Given the description of an element on the screen output the (x, y) to click on. 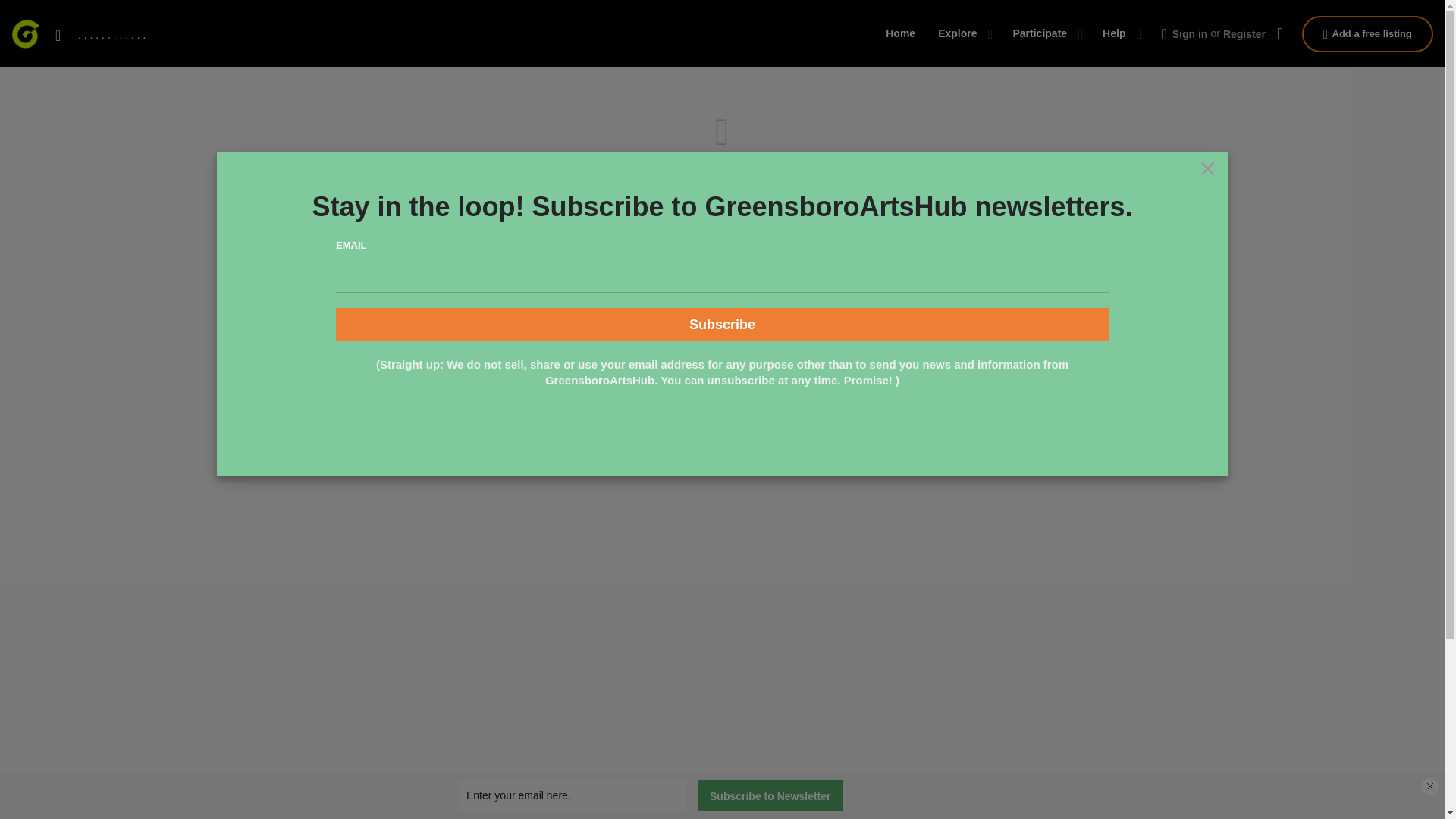
Register (1244, 33)
Add a free listing (1366, 33)
Participate (1040, 32)
Back to homepage (721, 213)
Explore (956, 32)
Subscribe (722, 324)
Home (900, 32)
Help (1113, 32)
Sign in (1190, 33)
Subscribe to Newsletter (770, 795)
